Given the description of an element on the screen output the (x, y) to click on. 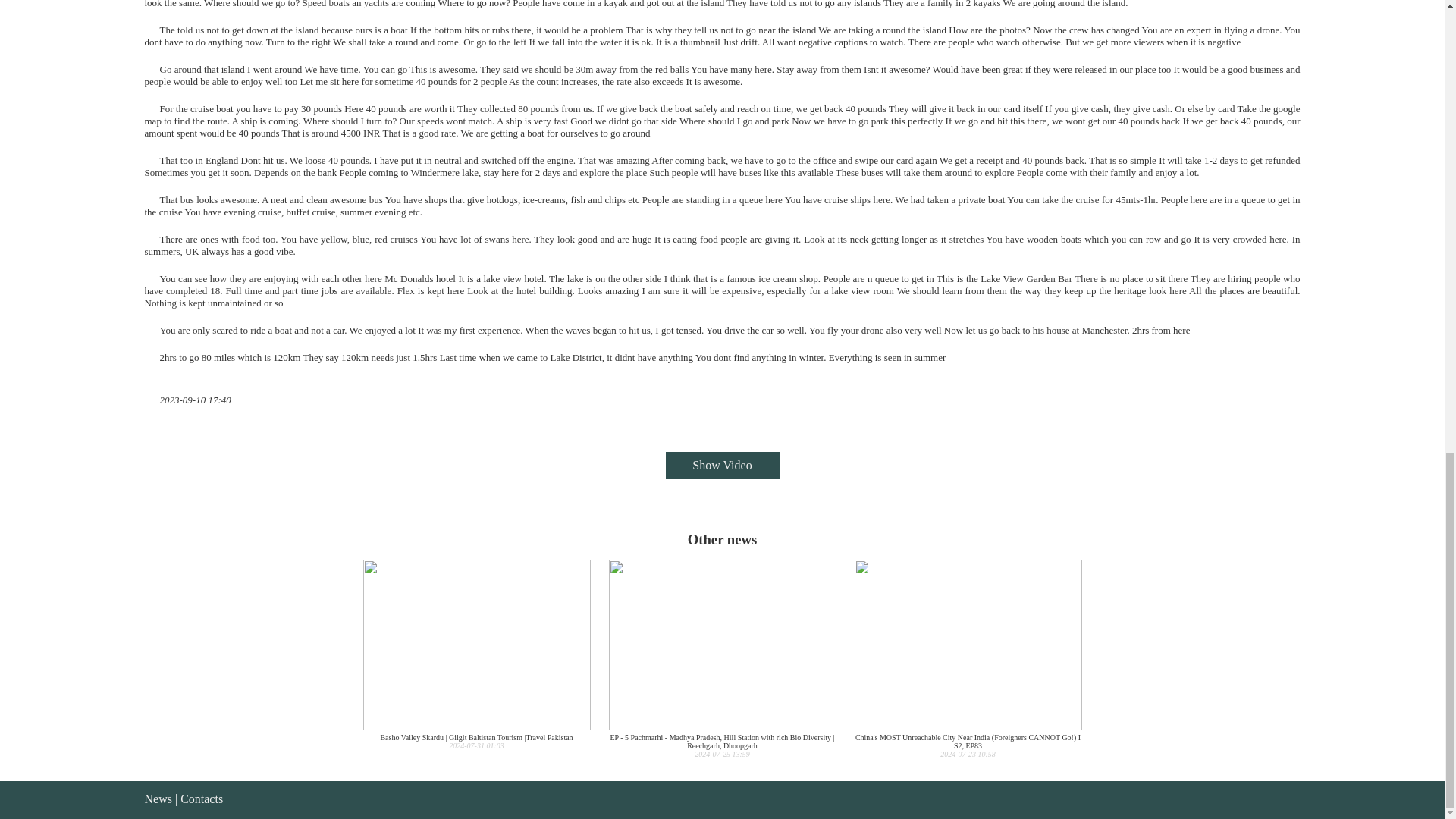
Contacts (201, 798)
News (157, 798)
